Given the description of an element on the screen output the (x, y) to click on. 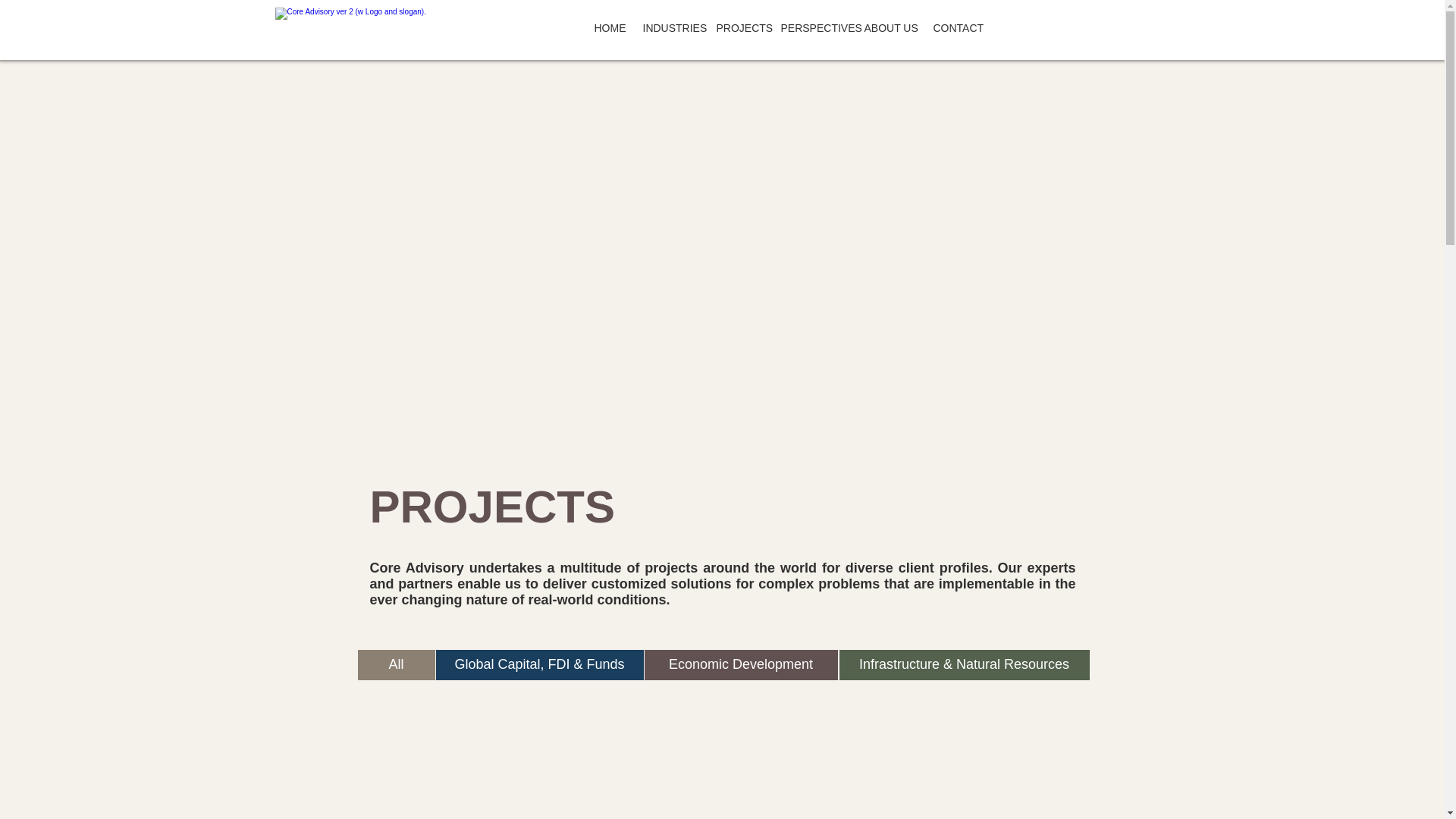
HOME (609, 27)
Economic Development (741, 665)
ABOUT US (890, 27)
INDUSTRIES (670, 27)
PROJECTS (740, 27)
